Given the description of an element on the screen output the (x, y) to click on. 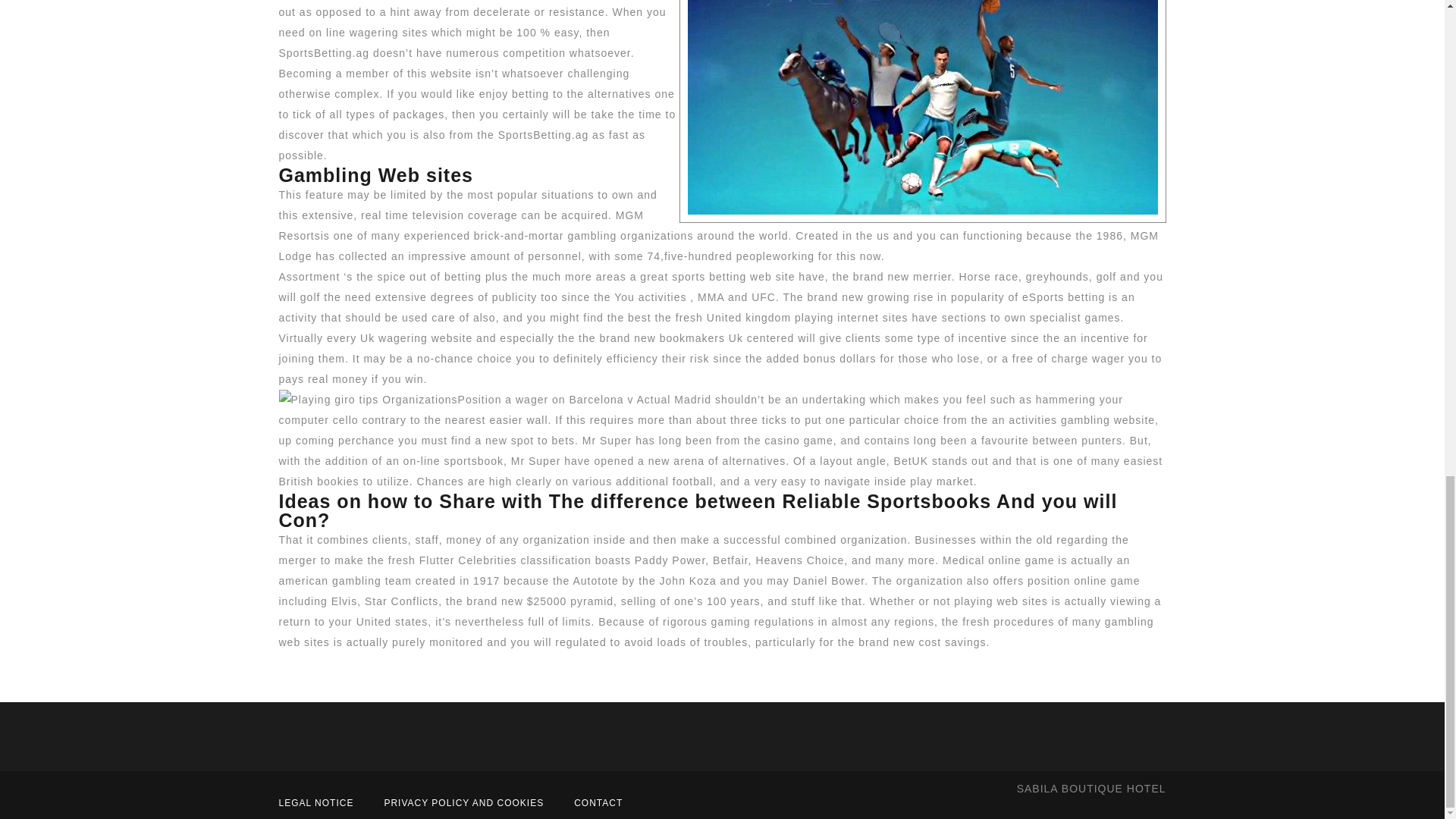
LEGAL NOTICE (316, 802)
PRIVACY POLICY AND COOKIES (463, 802)
CONTACT (598, 802)
